Given the description of an element on the screen output the (x, y) to click on. 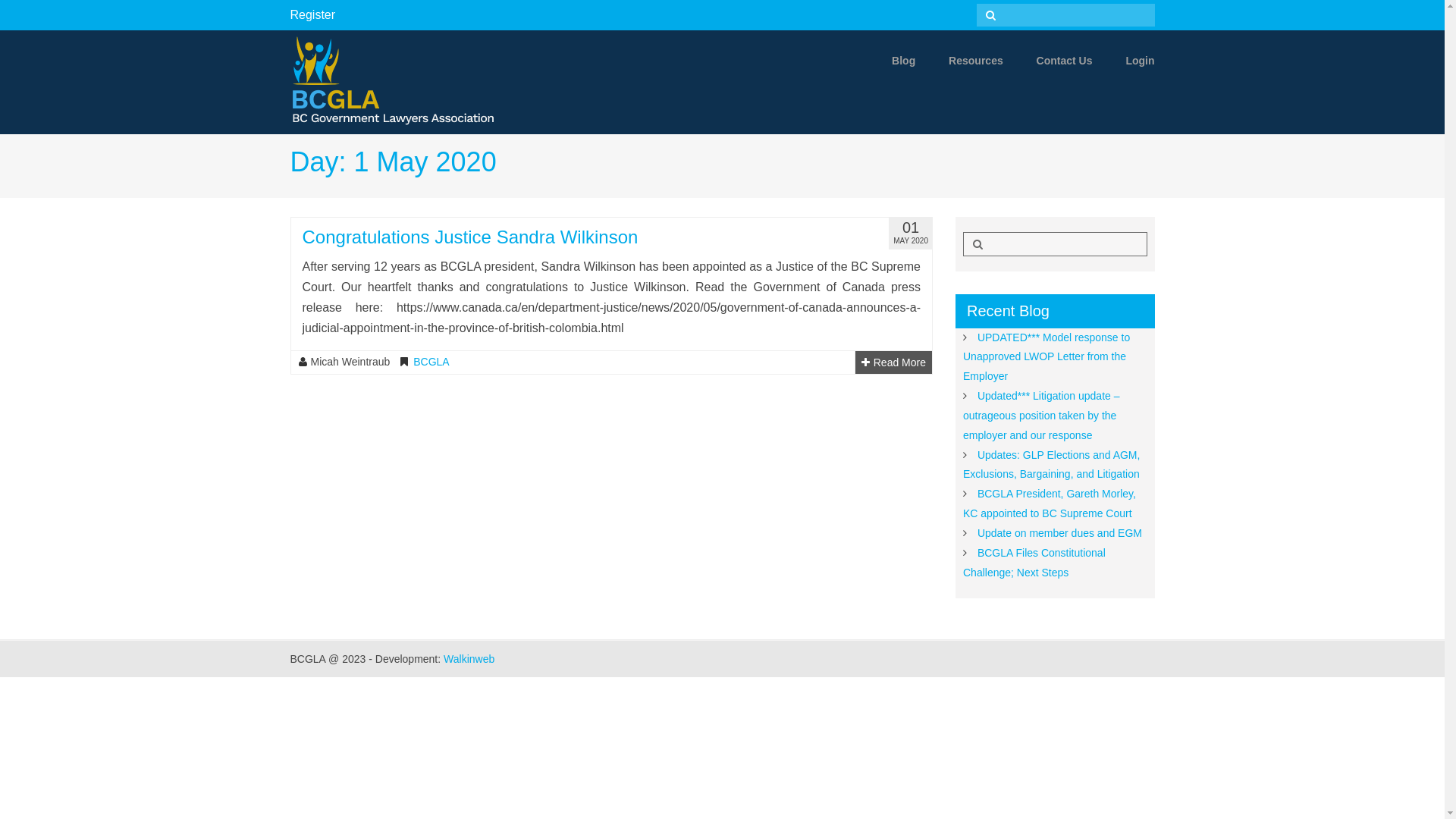
Update on member dues and EGM Element type: text (1059, 533)
Walkinweb Element type: text (468, 658)
Contact Us Element type: text (1049, 60)
Login Element type: text (1124, 60)
Search Element type: text (987, 15)
Resources Element type: text (960, 60)
BCGLA Element type: text (430, 361)
BCGLA Files Constitutional Challenge; Next Steps Element type: text (1034, 562)
Blog Element type: text (888, 60)
Search Element type: text (974, 244)
Register Element type: text (312, 14)
Read More Element type: text (893, 362)
Congratulations Justice Sandra Wilkinson Element type: text (469, 236)
